Given the description of an element on the screen output the (x, y) to click on. 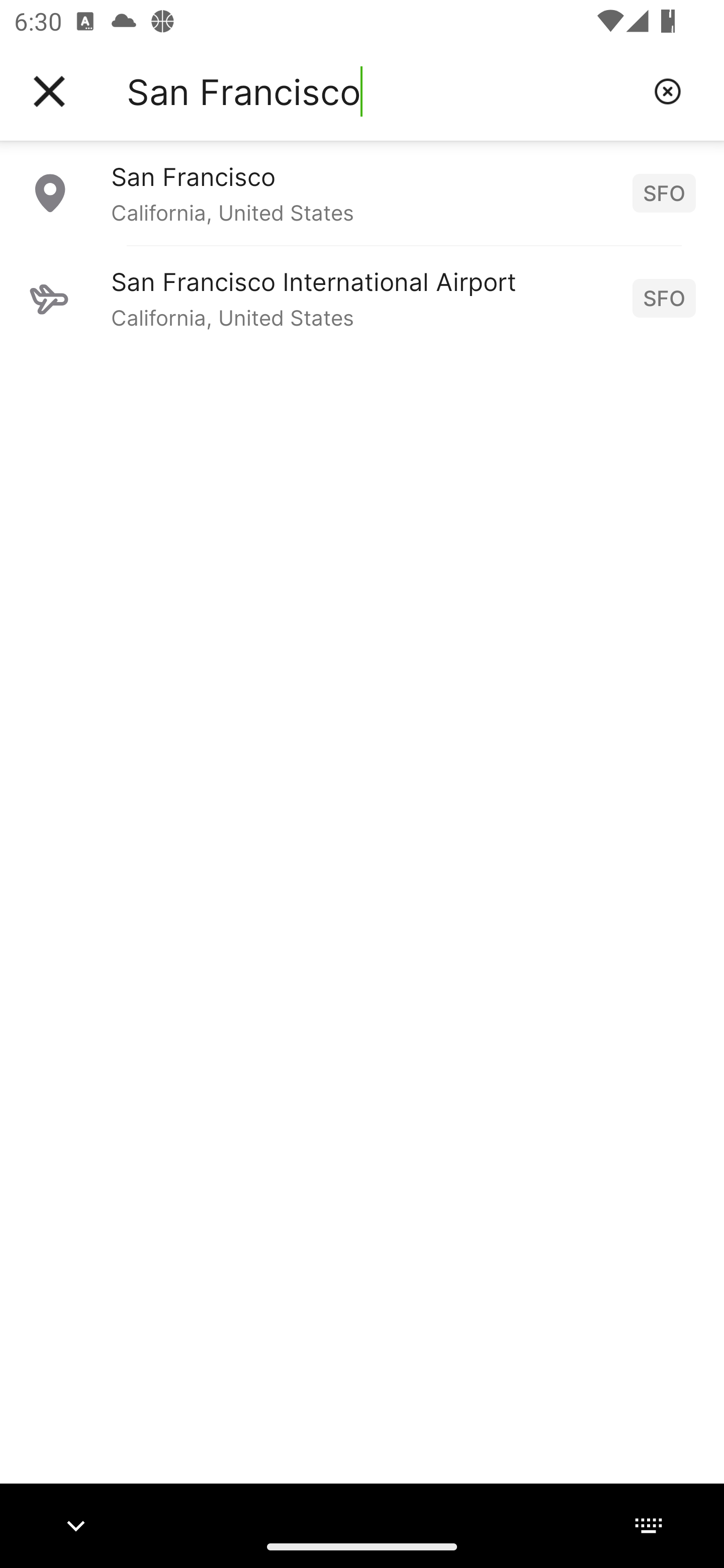
San Francisco (382, 91)
San Francisco California, United States SFO (362, 192)
